Given the description of an element on the screen output the (x, y) to click on. 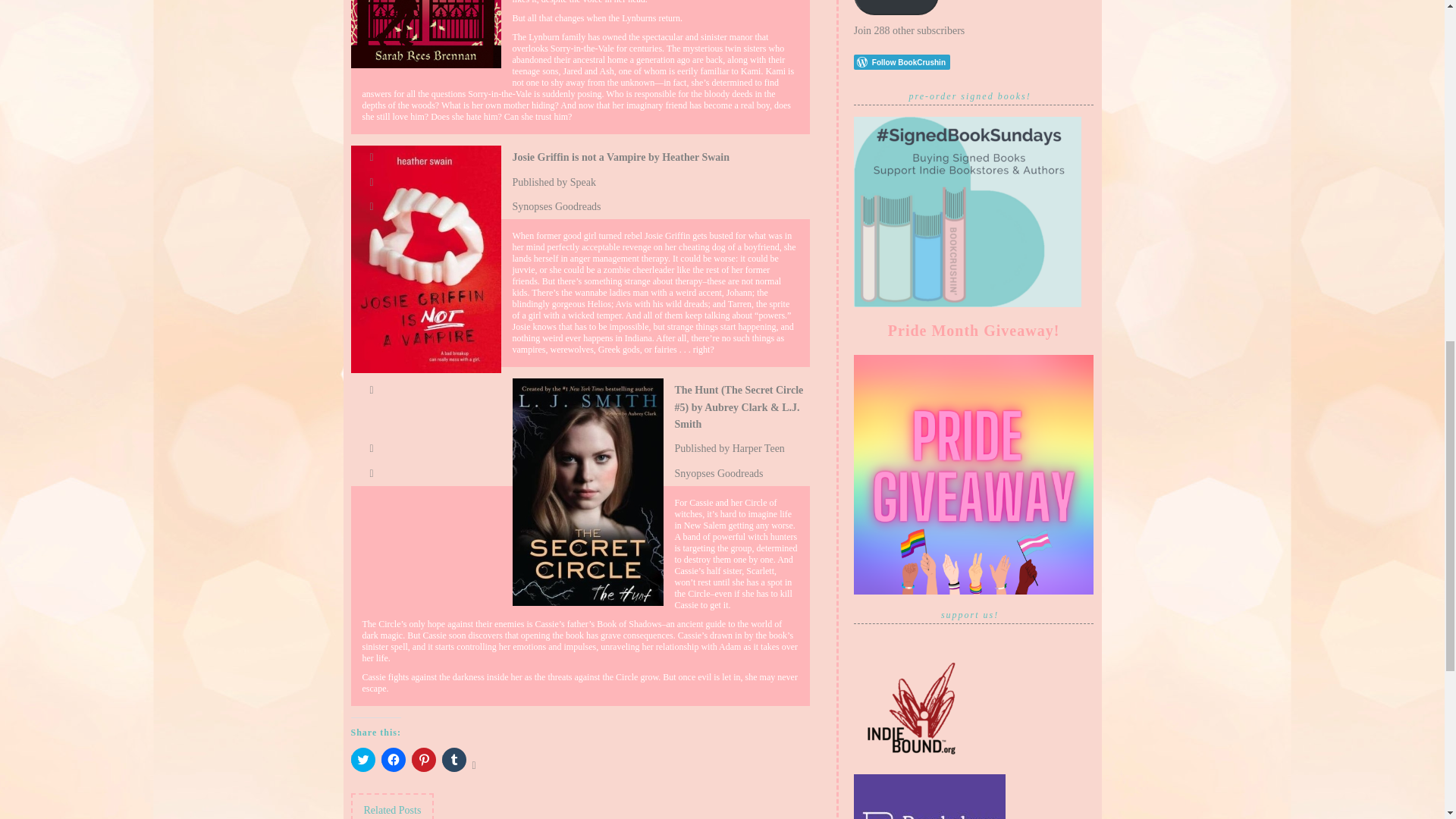
Follow Button (973, 61)
Click to share on Facebook (392, 759)
Click to share on Tumblr (453, 759)
Click to share on Twitter (362, 759)
Click to share on Pinterest (422, 759)
unspoken (425, 33)
